Given the description of an element on the screen output the (x, y) to click on. 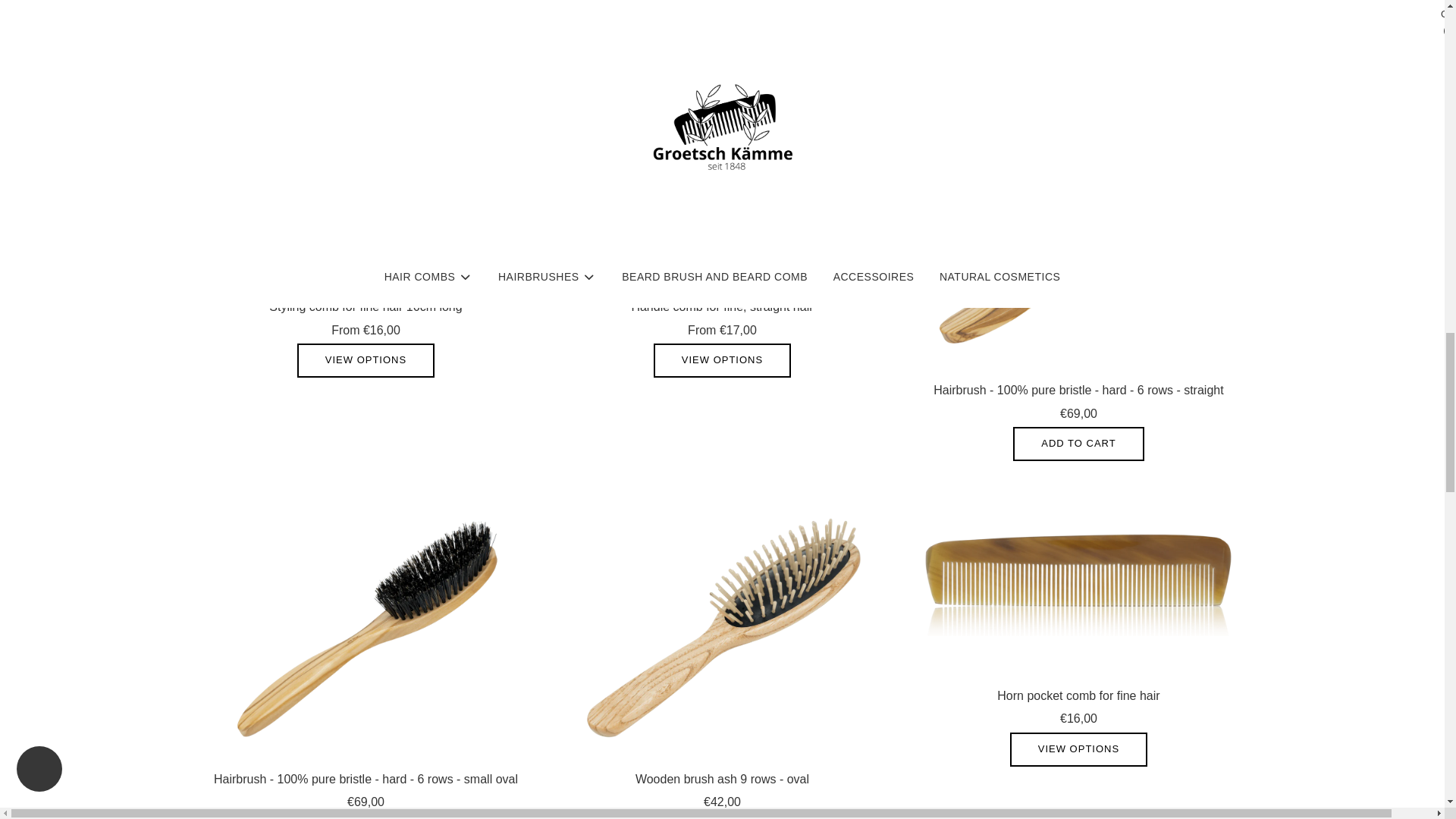
Handle comb for fine, straight hair (721, 195)
Horn pocket comb for fine hair (1077, 584)
Styling comb for fine hair 16cm long (365, 195)
Wooden brush ash 9 rows - oval (721, 626)
